Given the description of an element on the screen output the (x, y) to click on. 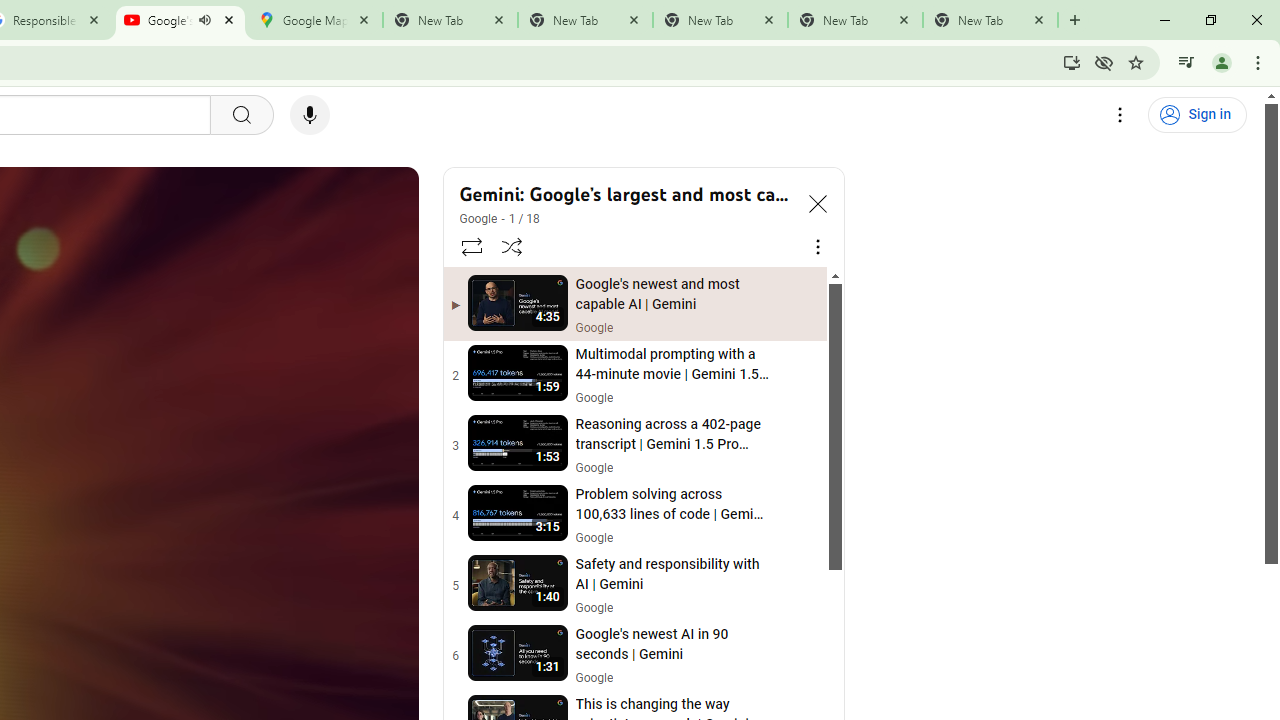
Loop playlist (470, 246)
Search with your voice (309, 115)
Google Maps (315, 20)
Collapse (817, 202)
